Given the description of an element on the screen output the (x, y) to click on. 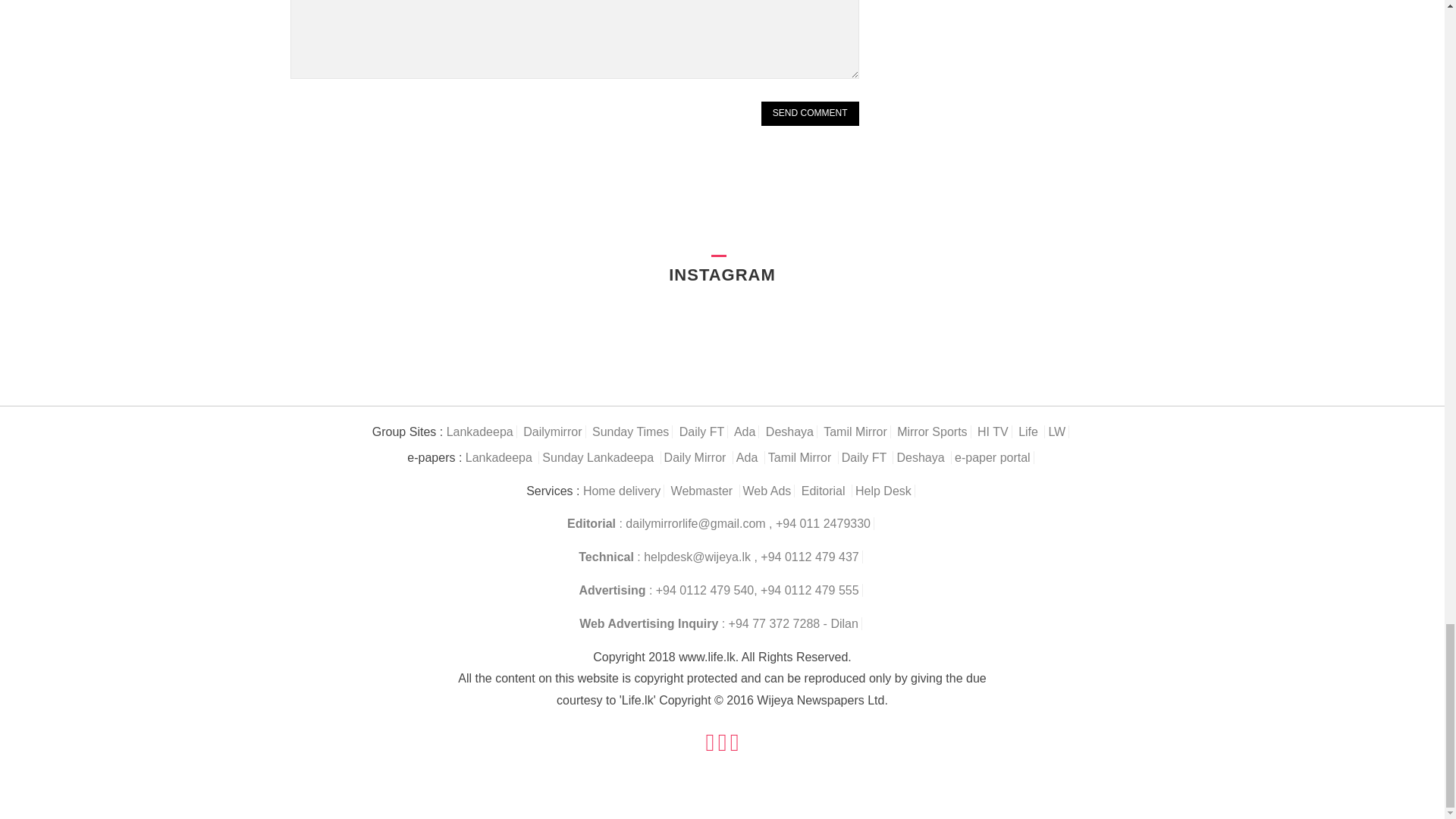
Send Comment (810, 113)
